Given the description of an element on the screen output the (x, y) to click on. 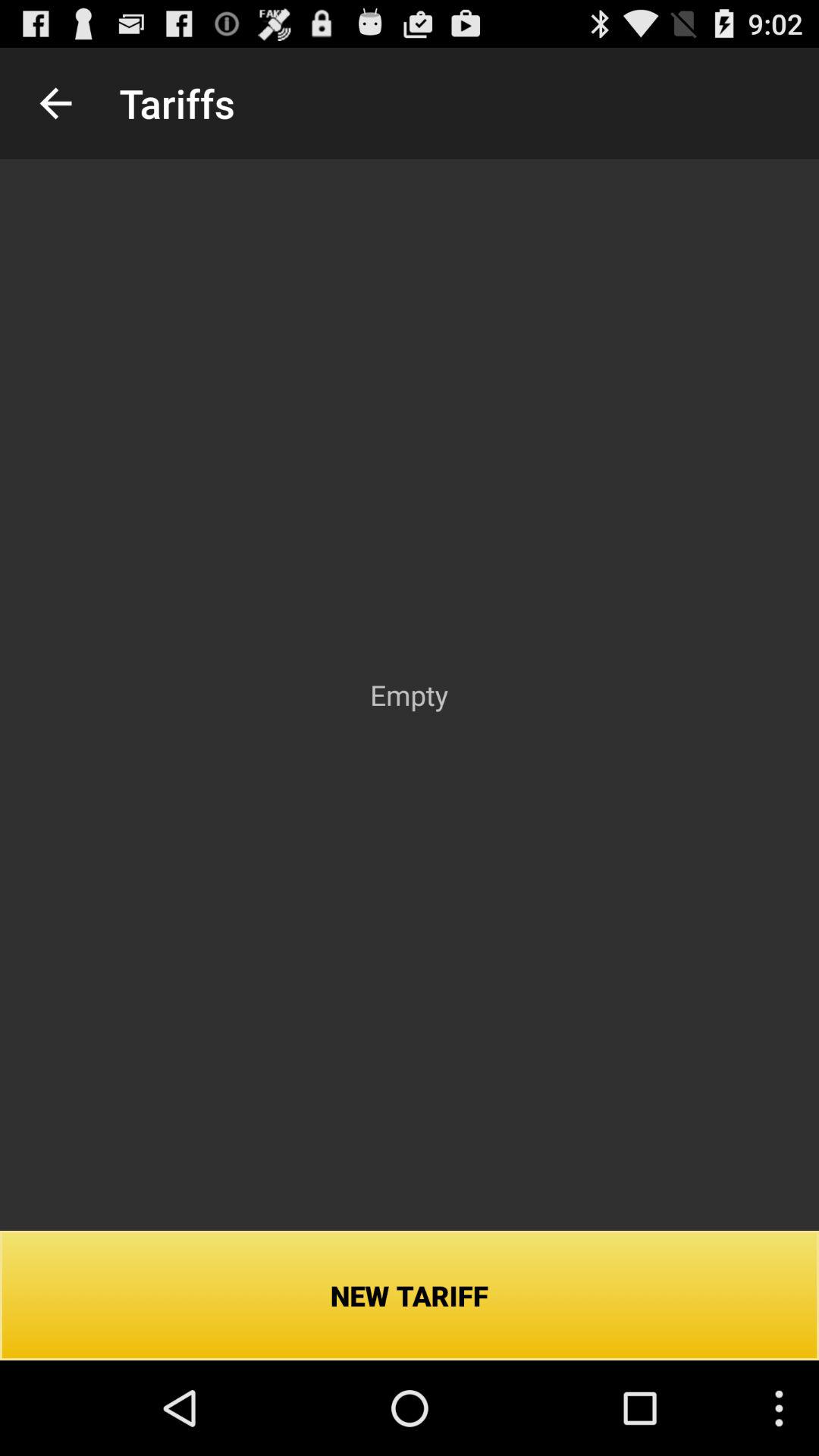
turn on icon to the left of the tariffs app (55, 103)
